Given the description of an element on the screen output the (x, y) to click on. 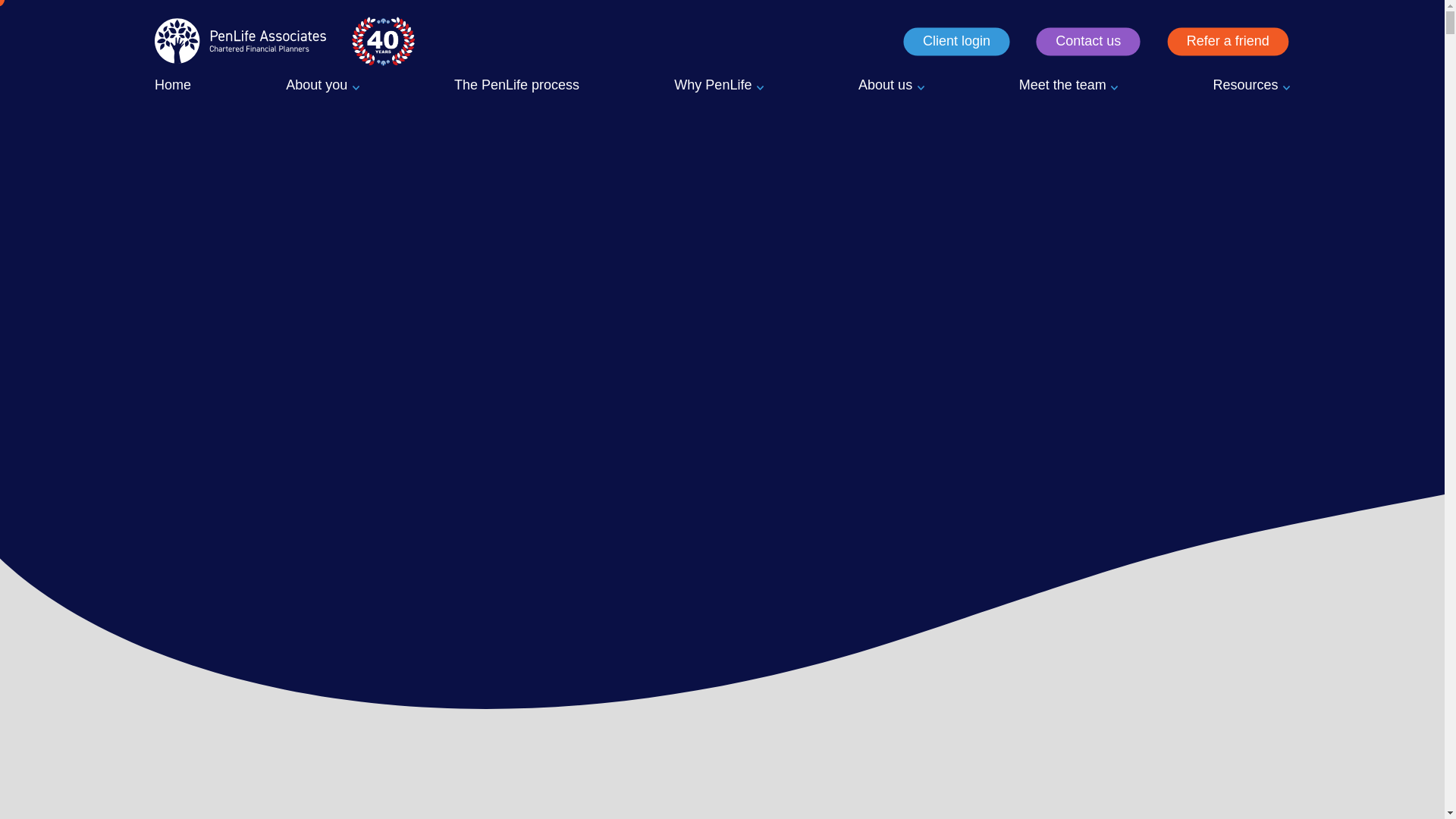
About you (321, 85)
Refer a friend (1228, 41)
Home (172, 85)
Why PenLife (718, 85)
Meet the team (1068, 85)
Contact us (1088, 41)
The PenLife process (516, 85)
About us (891, 85)
Client login (956, 41)
Resources (1251, 85)
